Given the description of an element on the screen output the (x, y) to click on. 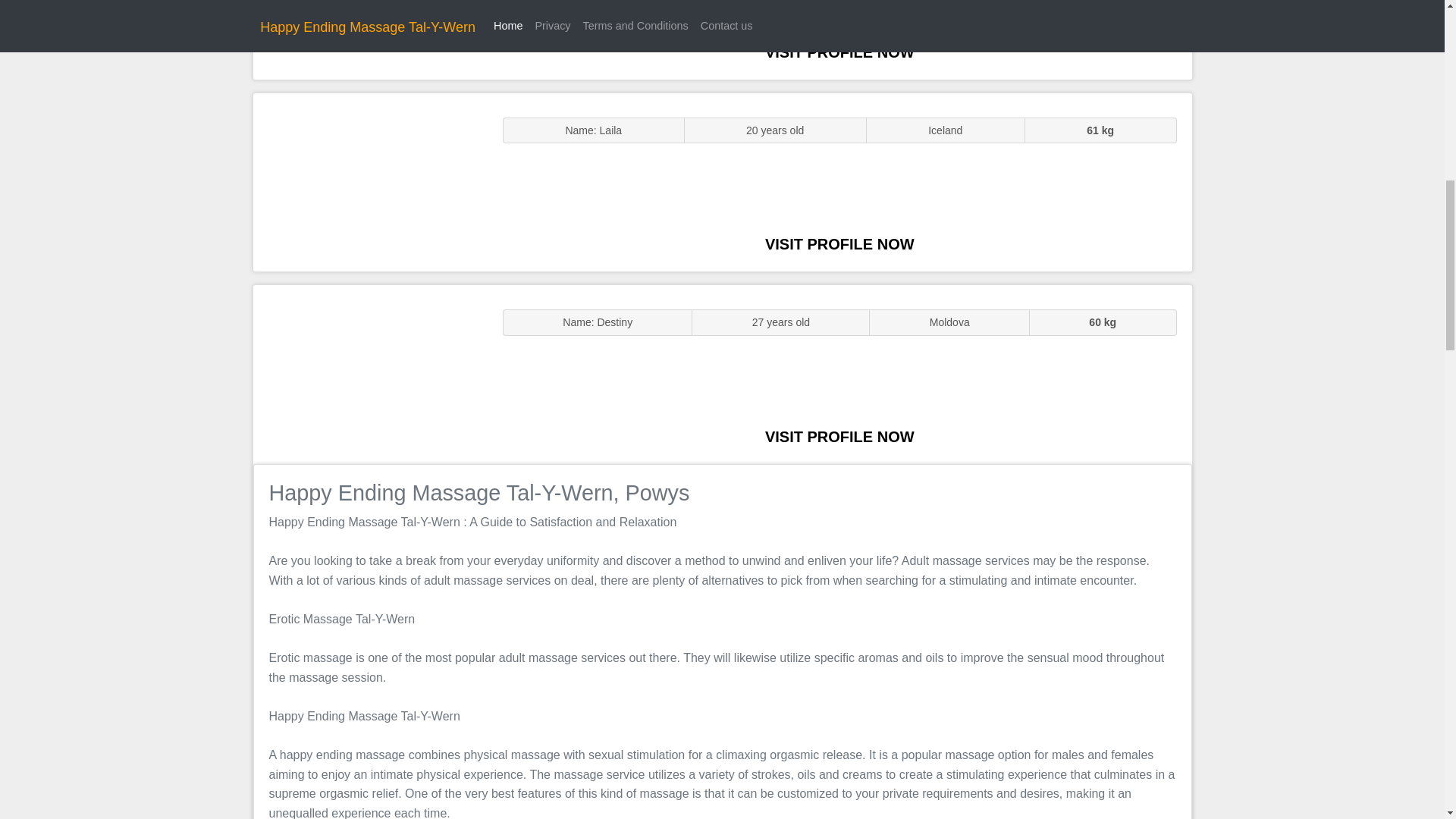
Massage (370, 374)
VISIT PROFILE NOW (839, 243)
Sluts (370, 182)
VISIT PROFILE NOW (839, 52)
VISIT PROFILE NOW (839, 436)
Sluts (370, 39)
